Given the description of an element on the screen output the (x, y) to click on. 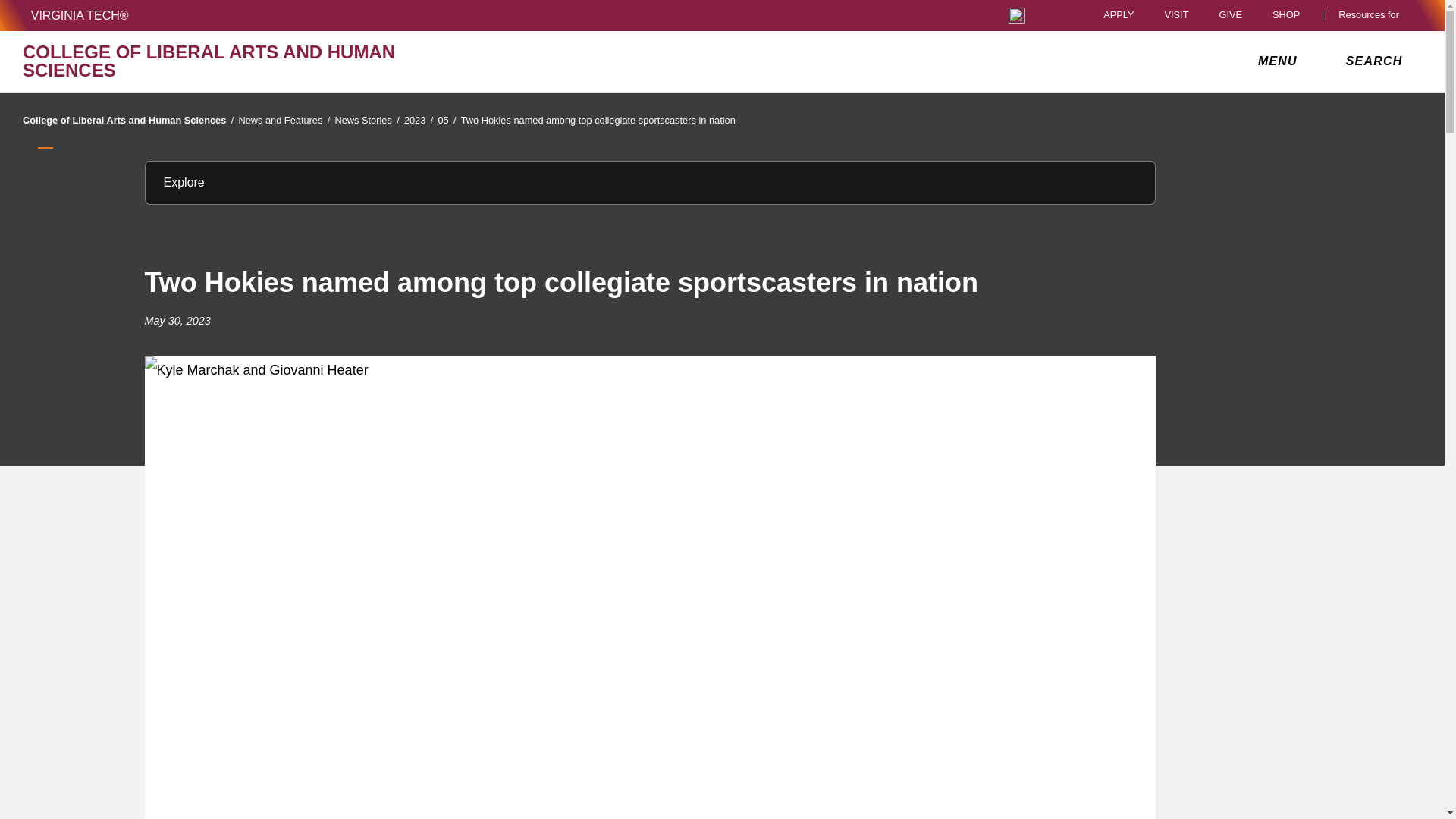
Universal Access Toggle (1017, 15)
APPLY (1118, 15)
VISIT (1175, 15)
MENU (1280, 61)
GIVE (1229, 15)
COLLEGE OF LIBERAL ARTS AND HUMAN SCIENCES (250, 60)
SHOP (1289, 15)
Resources for (1372, 15)
